Given the description of an element on the screen output the (x, y) to click on. 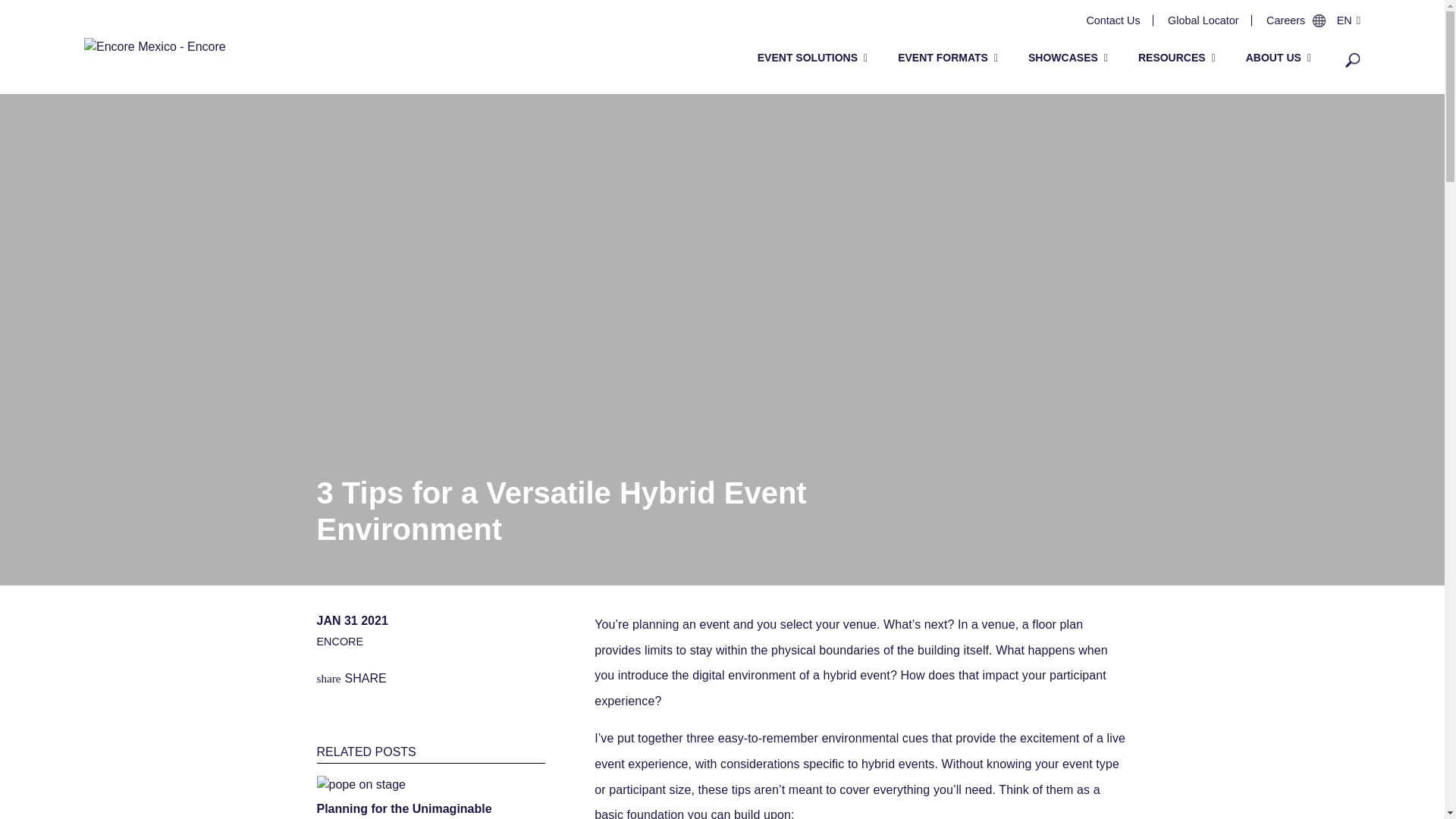
Global Locator (1203, 20)
Careers (1285, 20)
Contact Us (1113, 20)
3 Tips for a Versatile Hybrid Event Environment (561, 510)
EVENT SOLUTIONS (812, 57)
